Given the description of an element on the screen output the (x, y) to click on. 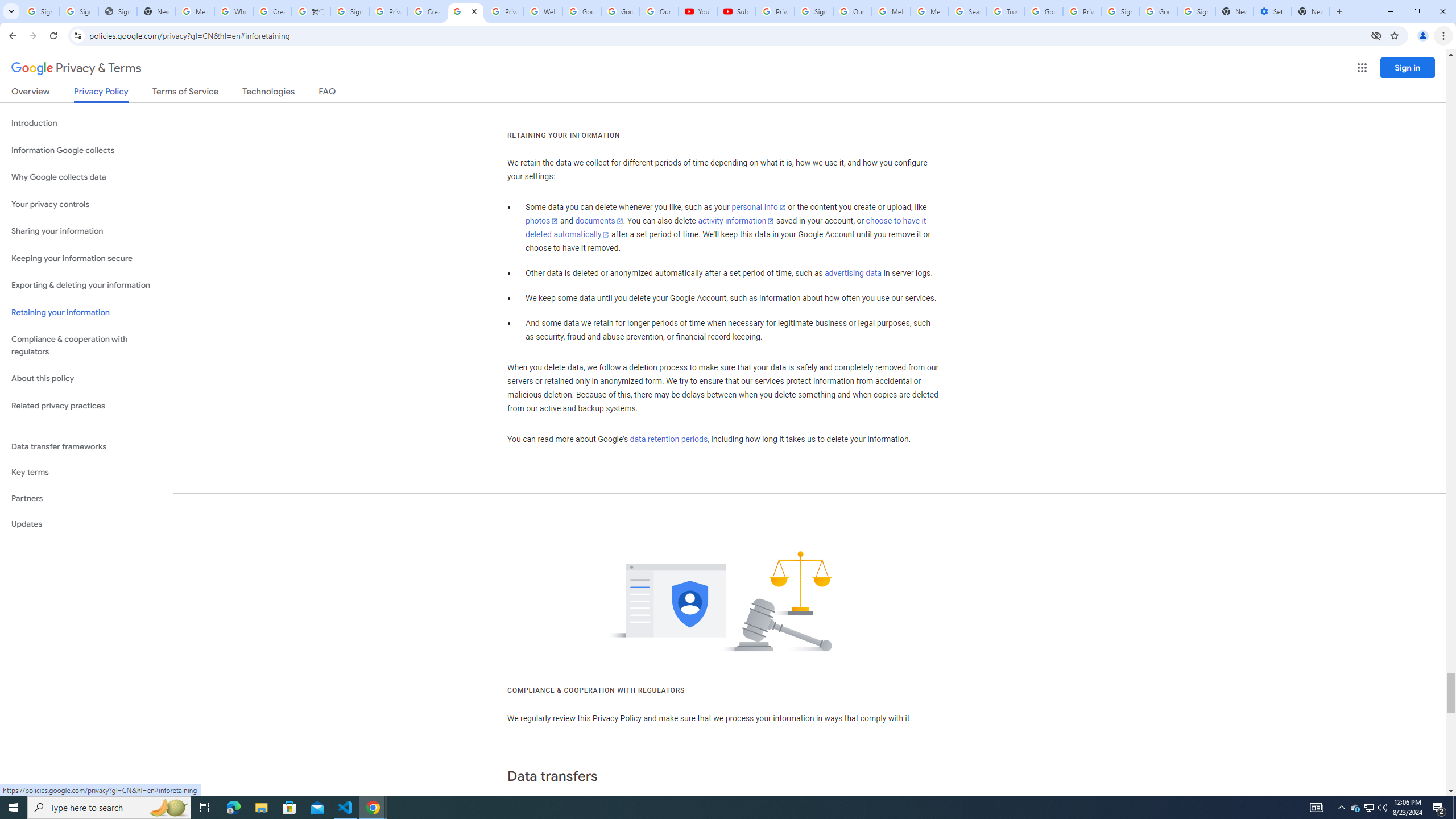
Sign in - Google Accounts (79, 11)
Sign in - Google Accounts (1120, 11)
Google Ads - Sign in (1043, 11)
Create your Google Account (272, 11)
Sign in - Google Accounts (349, 11)
